Given the description of an element on the screen output the (x, y) to click on. 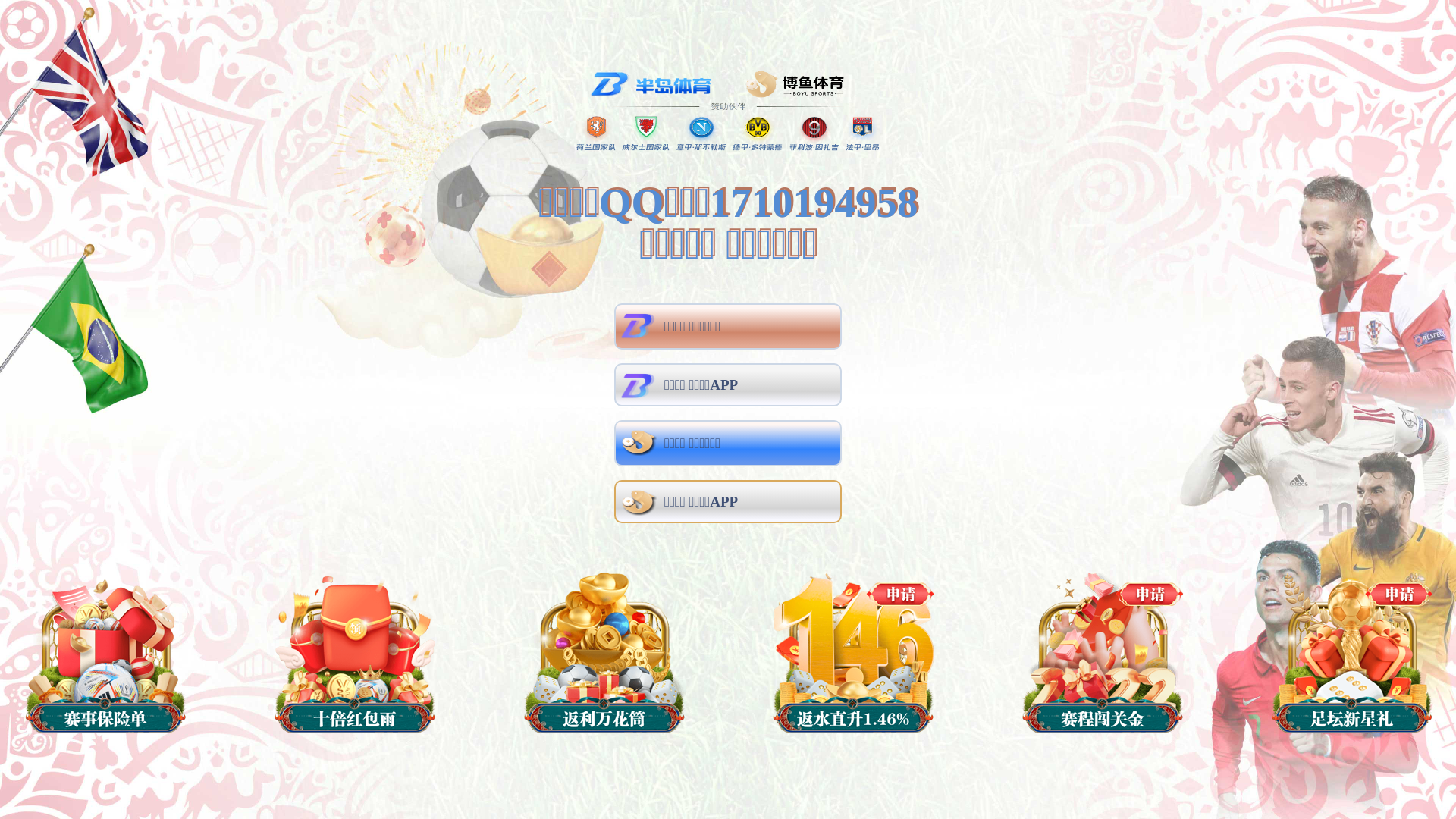
Prev Element type: text (304, 284)
2 Element type: text (735, 549)
1 Element type: text (720, 549)
Next Element type: text (1150, 284)
